Given the description of an element on the screen output the (x, y) to click on. 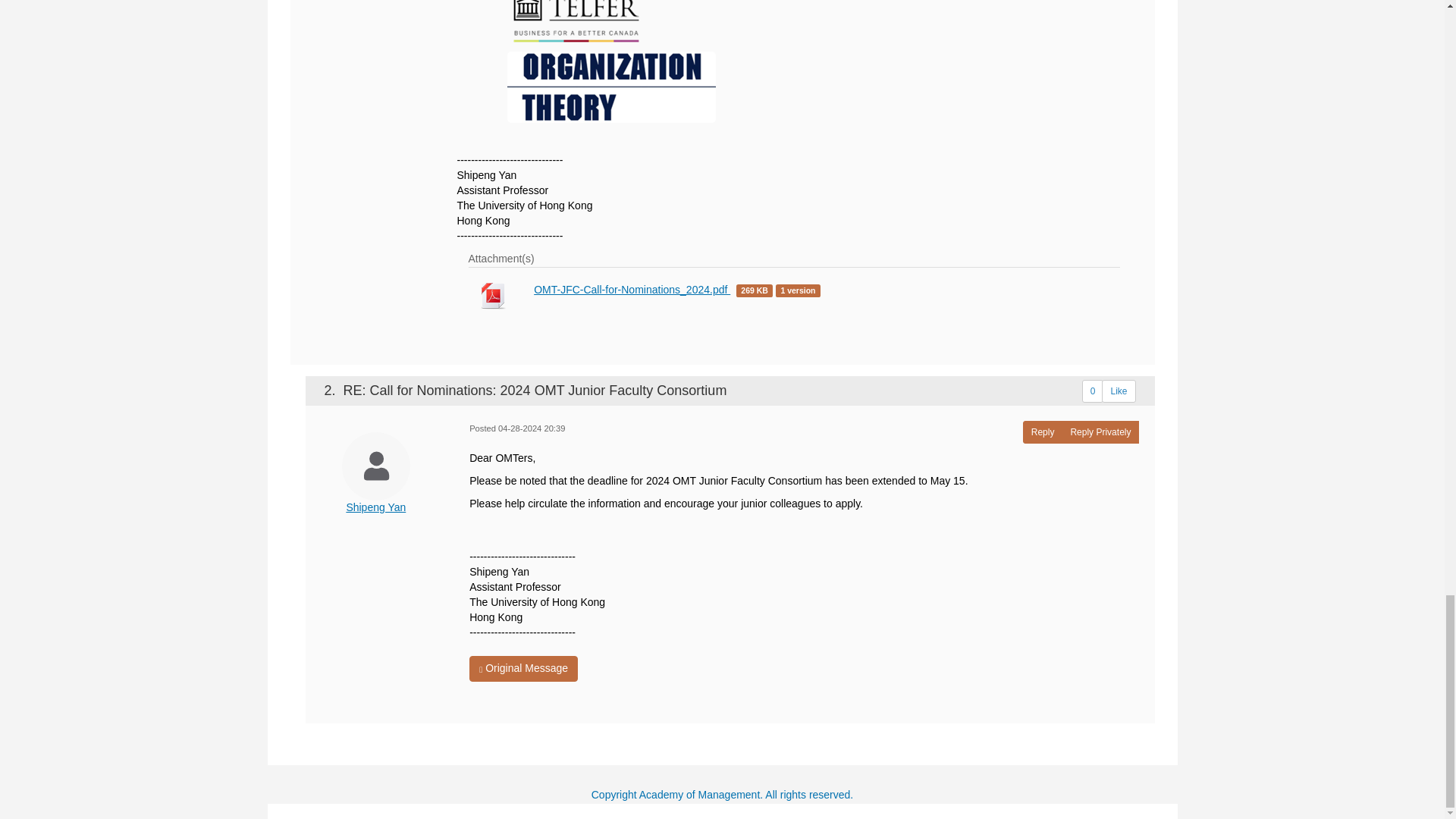
Like this item? (1118, 391)
pdf file (493, 297)
